Given the description of an element on the screen output the (x, y) to click on. 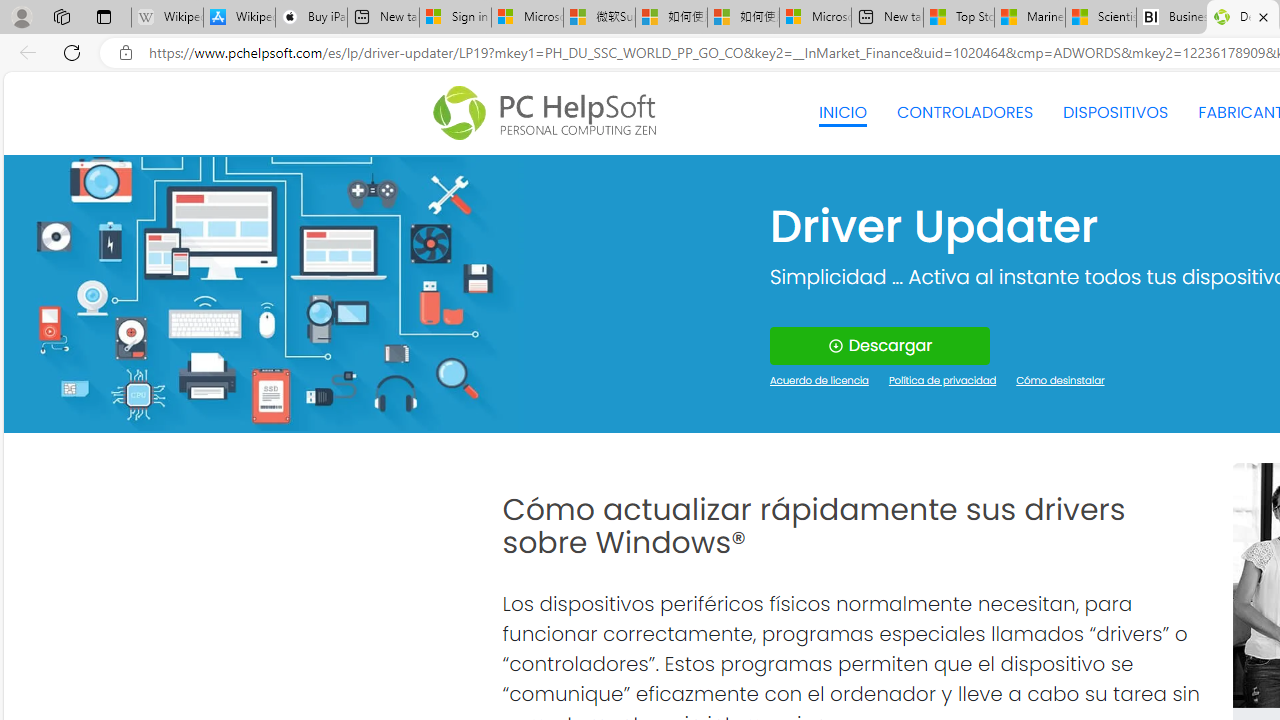
INICIO (842, 112)
